Given the description of an element on the screen output the (x, y) to click on. 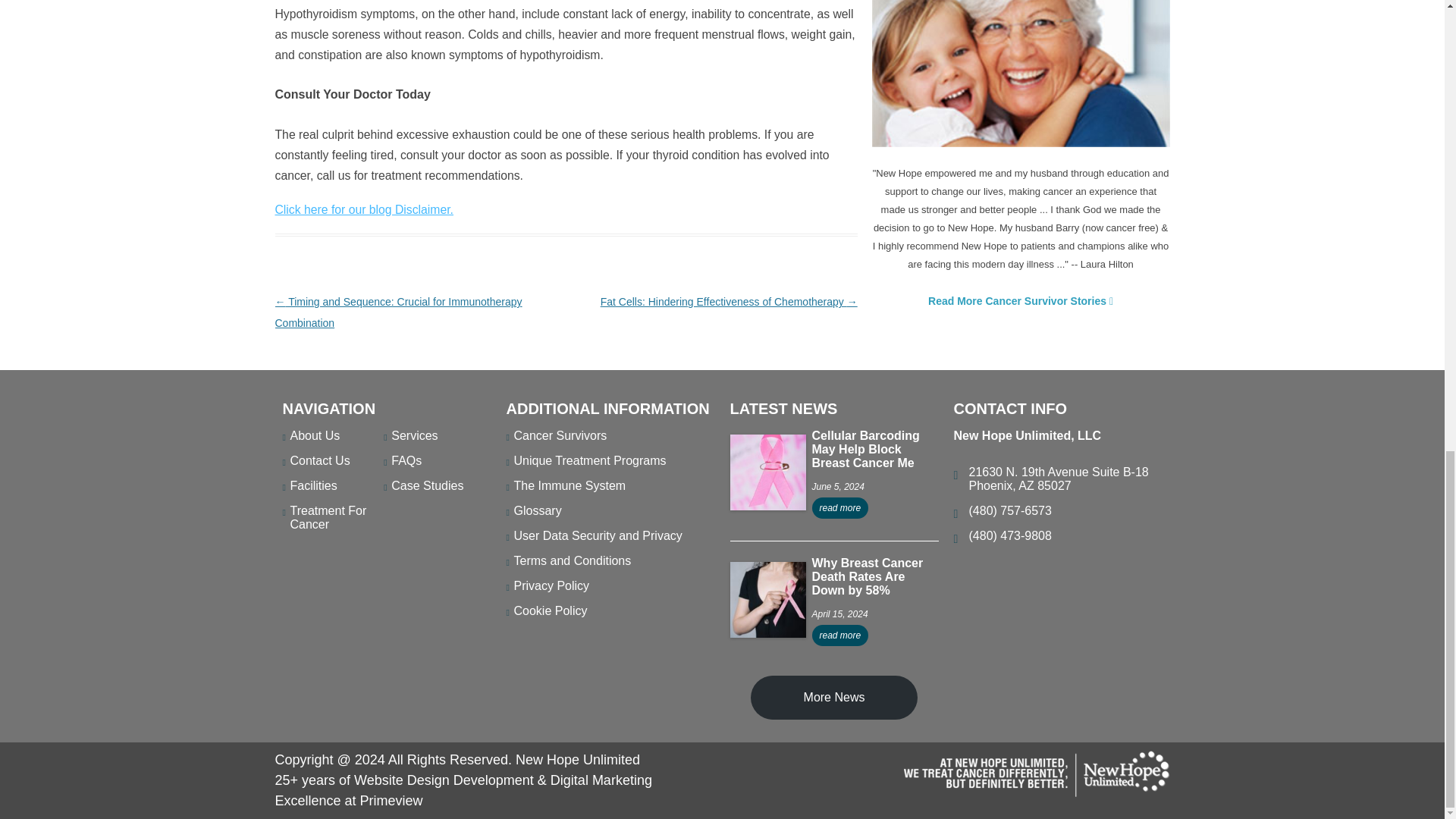
Click here for our blog Disclaimer. (363, 209)
Cancer Survivor Stories (1021, 73)
New Hope Medical Center Logo (1035, 773)
